Given the description of an element on the screen output the (x, y) to click on. 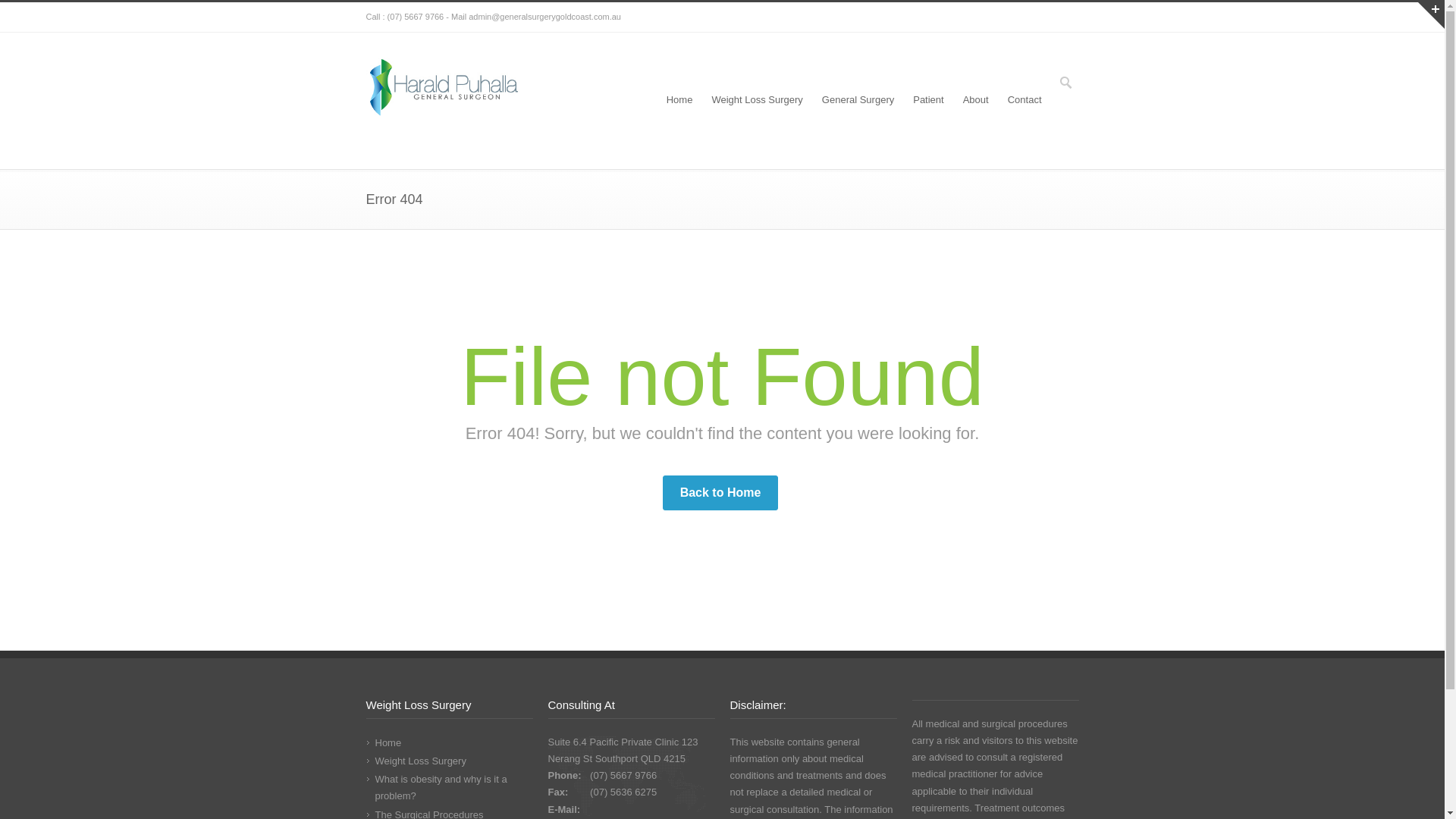
General Surgery Element type: text (857, 100)
About Element type: text (975, 100)
Weight Loss Surgery Element type: text (756, 100)
Search Element type: text (12, 10)
Patient Element type: text (928, 100)
Contact Element type: text (1024, 100)
What is obesity and why is it a problem? Element type: text (440, 787)
Back to Home Element type: text (720, 492)
Home Element type: text (387, 742)
Home Element type: text (679, 100)
Weight Loss Surgery Element type: text (419, 760)
